Given the description of an element on the screen output the (x, y) to click on. 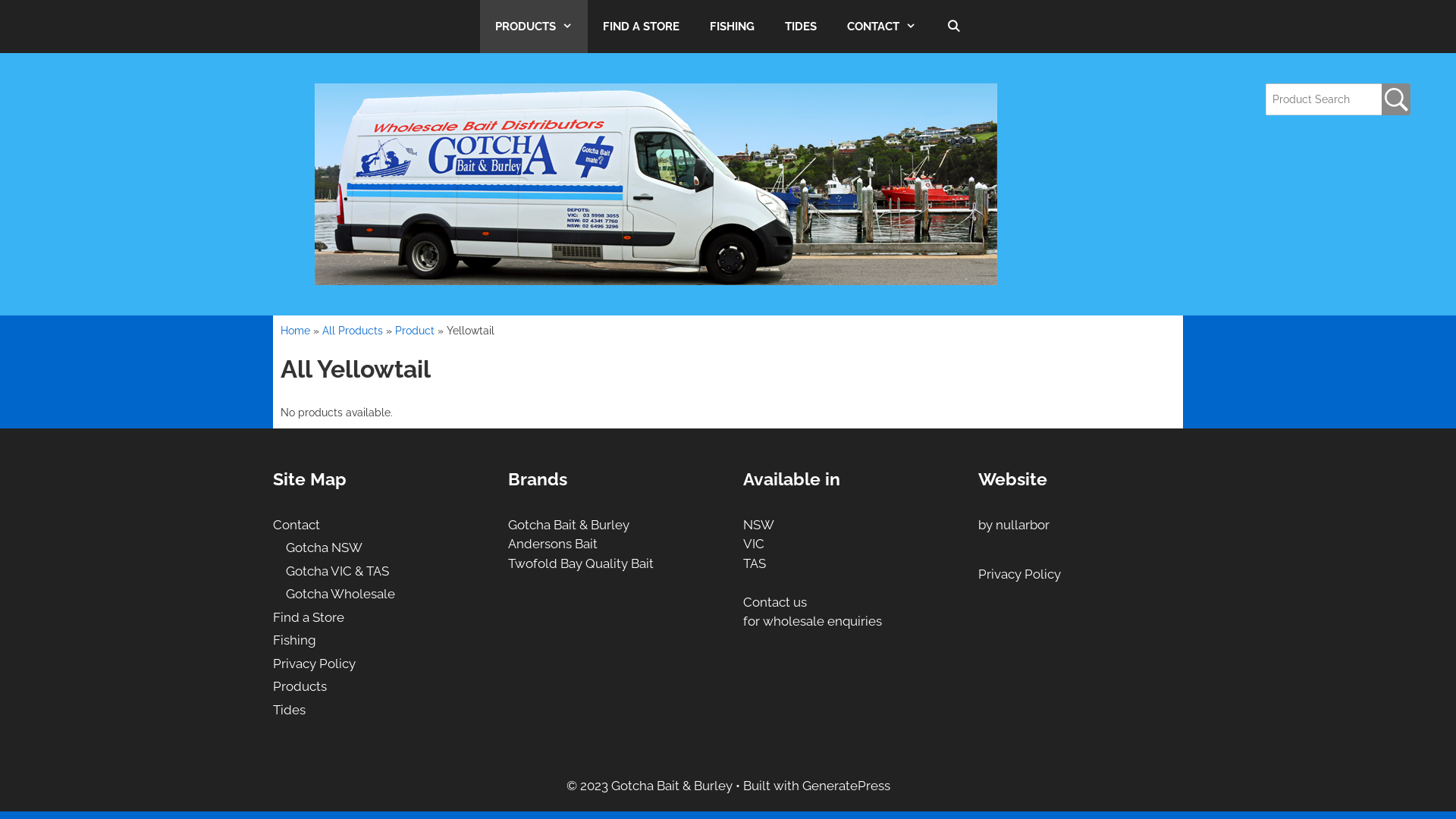
TAS Element type: text (754, 563)
Contact Element type: text (296, 524)
FISHING Element type: text (731, 26)
Fishing Element type: text (294, 639)
Products Element type: text (299, 685)
Gotcha NSW Element type: text (323, 547)
GeneratePress Element type: text (846, 785)
PRODUCTS Element type: text (533, 26)
FIND A STORE Element type: text (640, 26)
Product Element type: text (414, 330)
All Products Element type: text (352, 330)
Home Element type: text (295, 330)
nullarbor Element type: text (1022, 524)
VIC Element type: text (753, 543)
Andersons Bait Element type: text (552, 543)
Privacy Policy Element type: text (314, 663)
Find a Store Element type: text (308, 616)
Gotcha Wholesale Element type: text (340, 593)
TIDES Element type: text (800, 26)
NSW Element type: text (758, 524)
Gotcha Bait & Burley Element type: text (568, 524)
Tides Element type: text (289, 709)
Gotcha VIC & TAS Element type: text (337, 570)
Privacy Policy Element type: text (1019, 573)
Twofold Bay Quality Bait Element type: text (580, 563)
Contact us
for wholesale enquiries Element type: text (812, 611)
CONTACT Element type: text (881, 26)
